Given the description of an element on the screen output the (x, y) to click on. 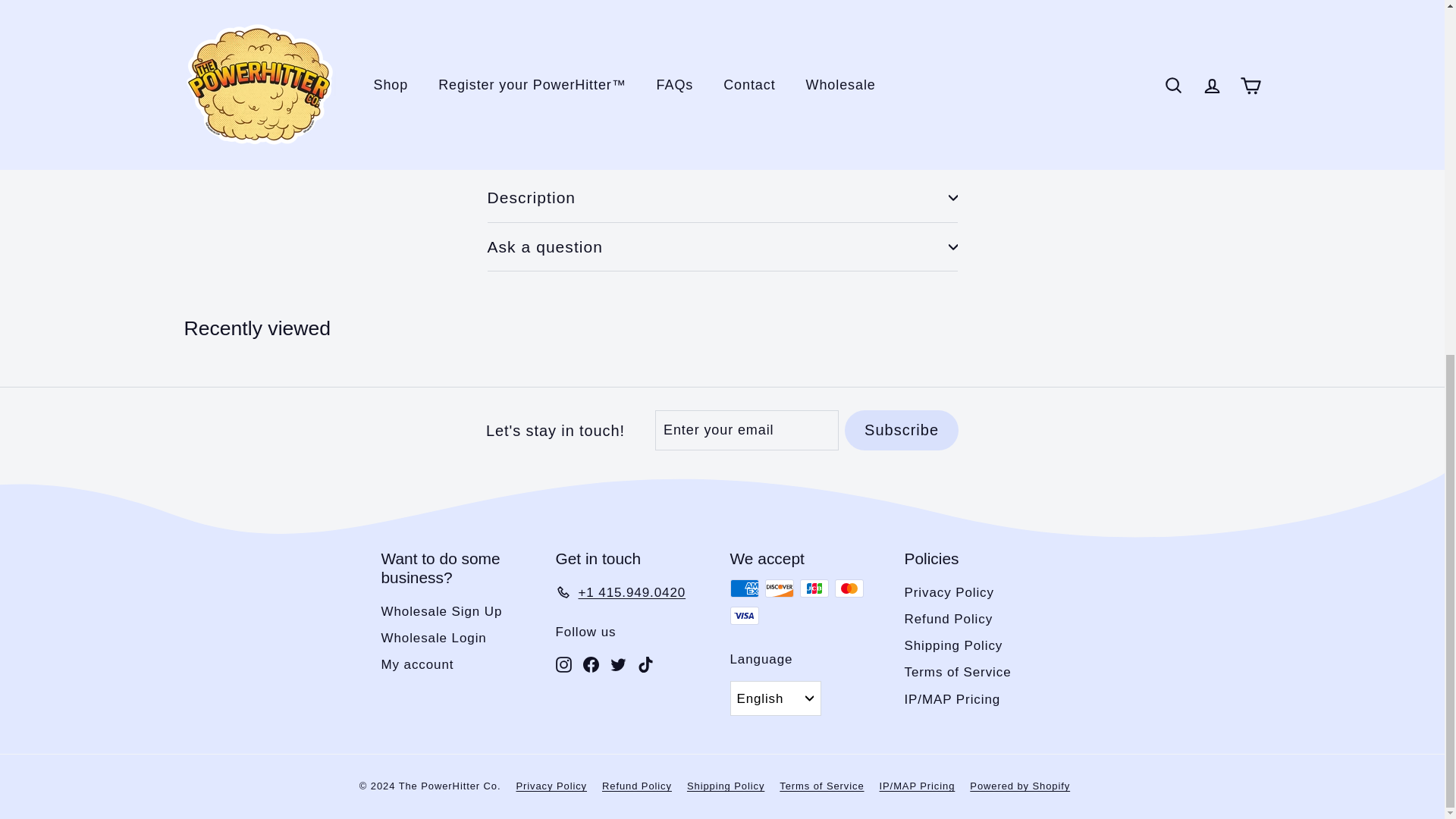
twitter (618, 664)
Mastercard (848, 588)
American Express (743, 588)
JCB (813, 588)
Discover (778, 588)
instagram (562, 664)
